Given the description of an element on the screen output the (x, y) to click on. 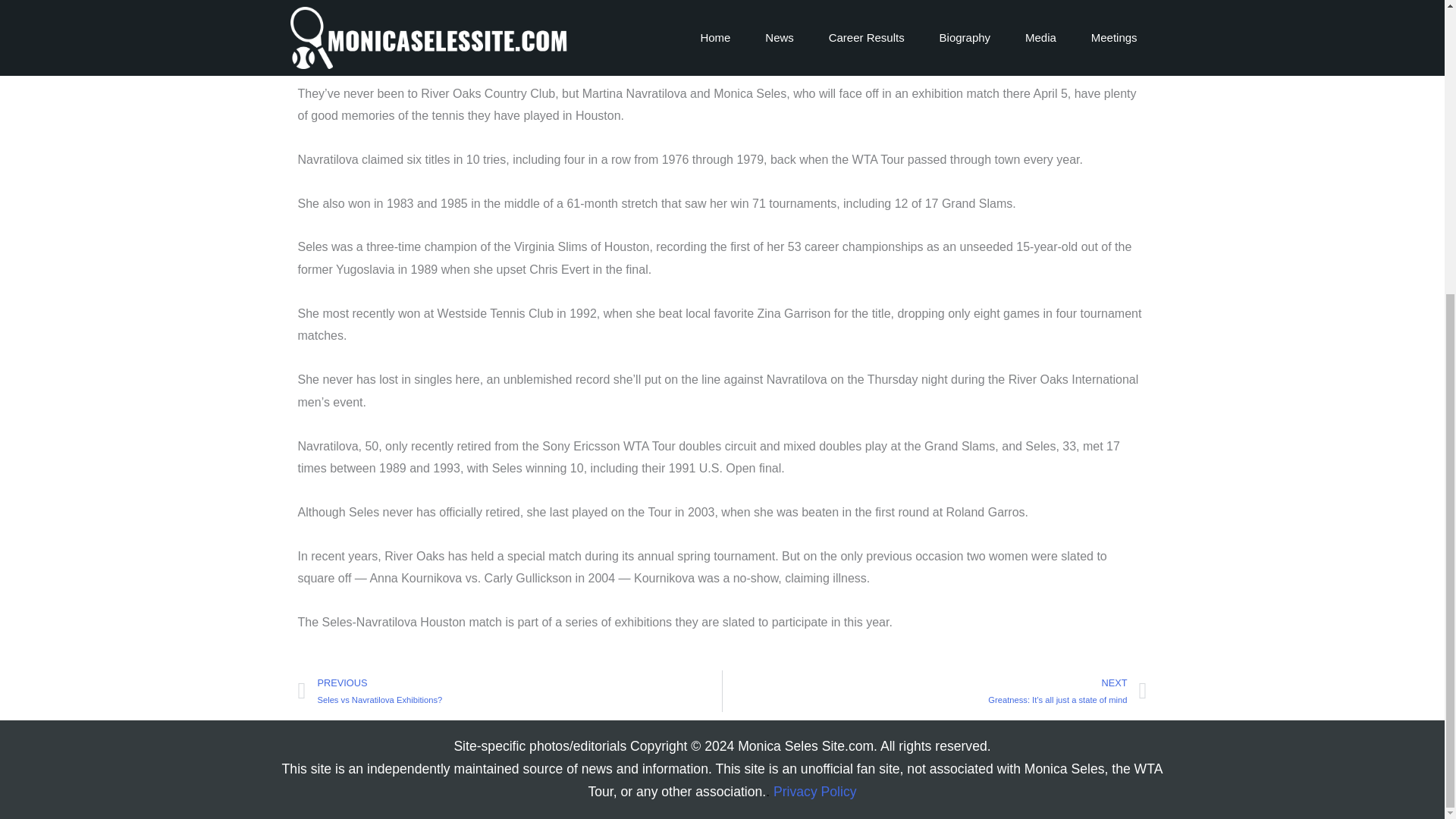
Privacy Policy (815, 791)
